Given the description of an element on the screen output the (x, y) to click on. 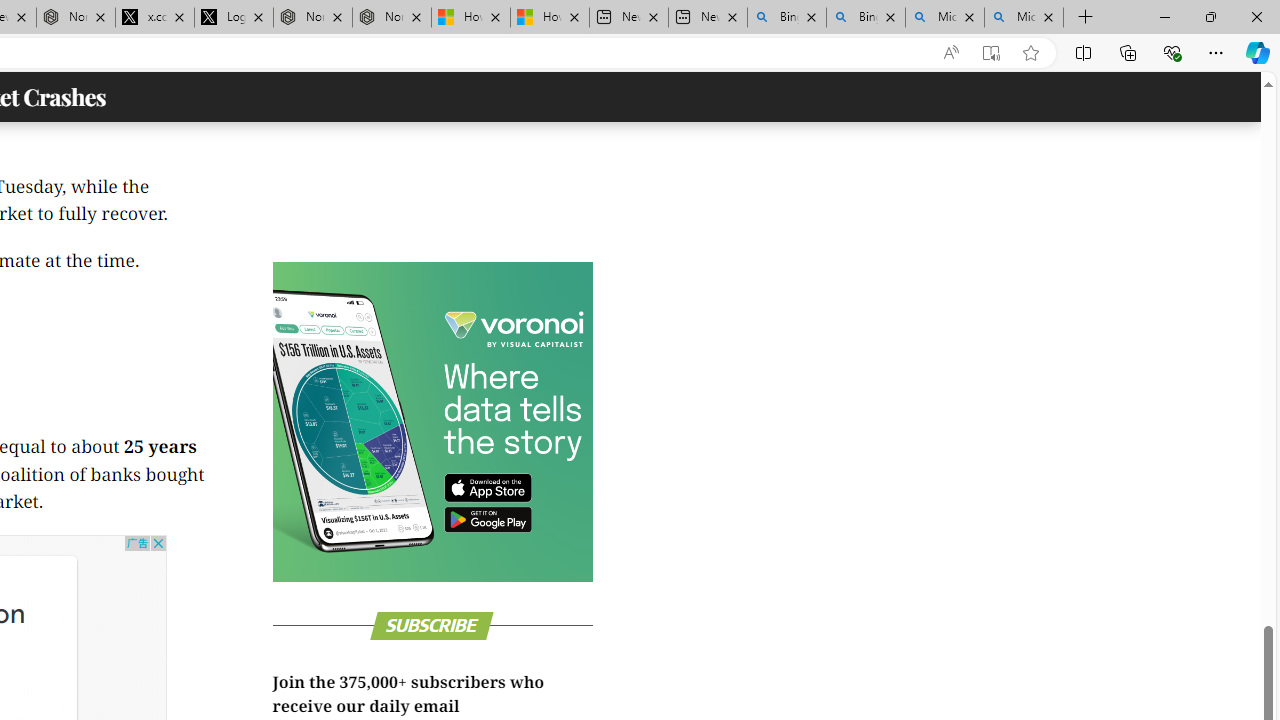
Privacy (1226, 317)
Bing AI - Search (865, 17)
How to Use a Monitor With Your Closed Laptop (549, 17)
